Given the description of an element on the screen output the (x, y) to click on. 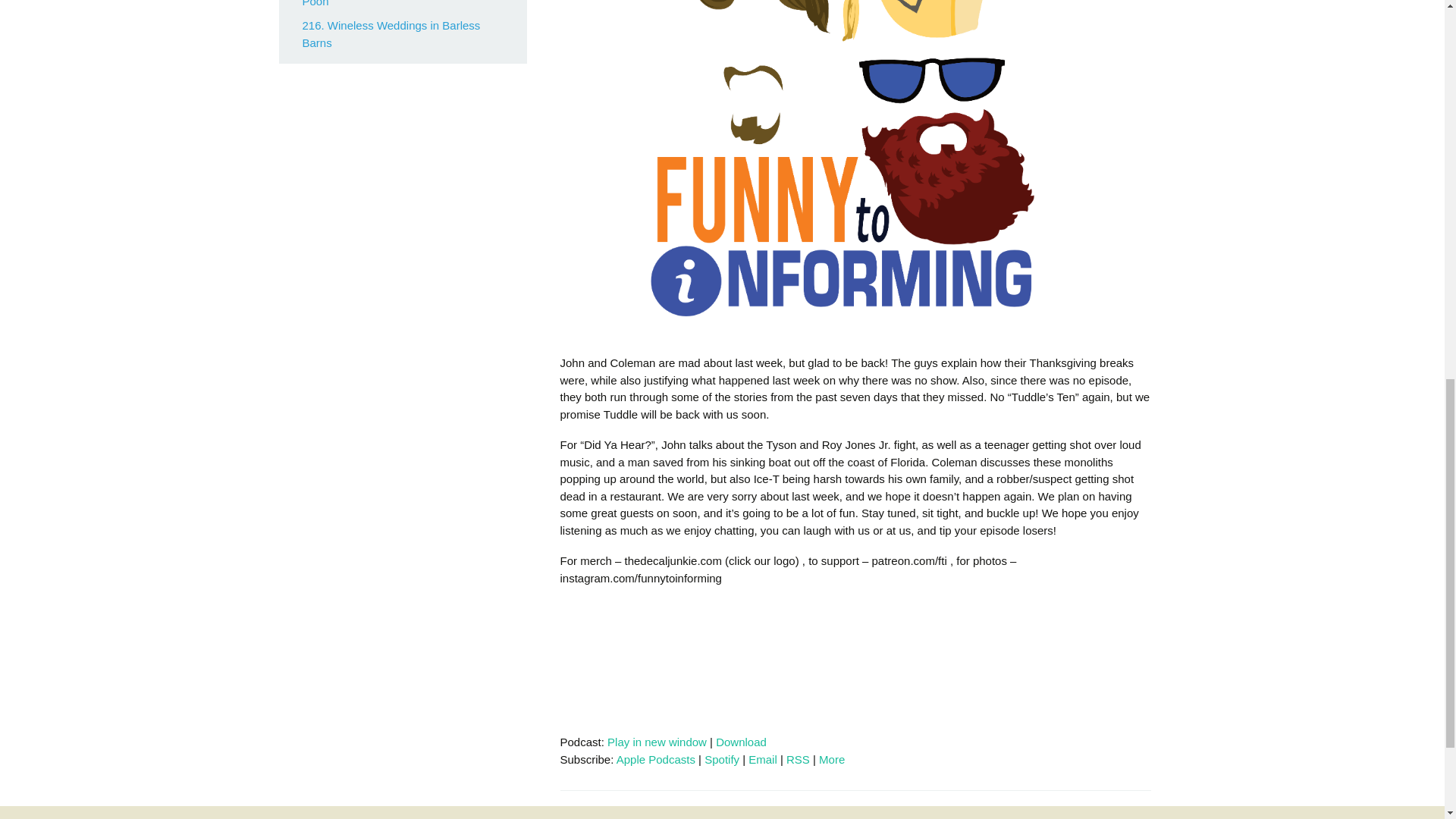
Blubrry Podcast Player (854, 662)
Subscribe on Spotify (721, 758)
Download (741, 741)
Subscribe via RSS (797, 758)
Subscribe on Apple Podcasts (655, 758)
Subscribe by Email (762, 758)
More (831, 758)
Play in new window (656, 741)
